Given the description of an element on the screen output the (x, y) to click on. 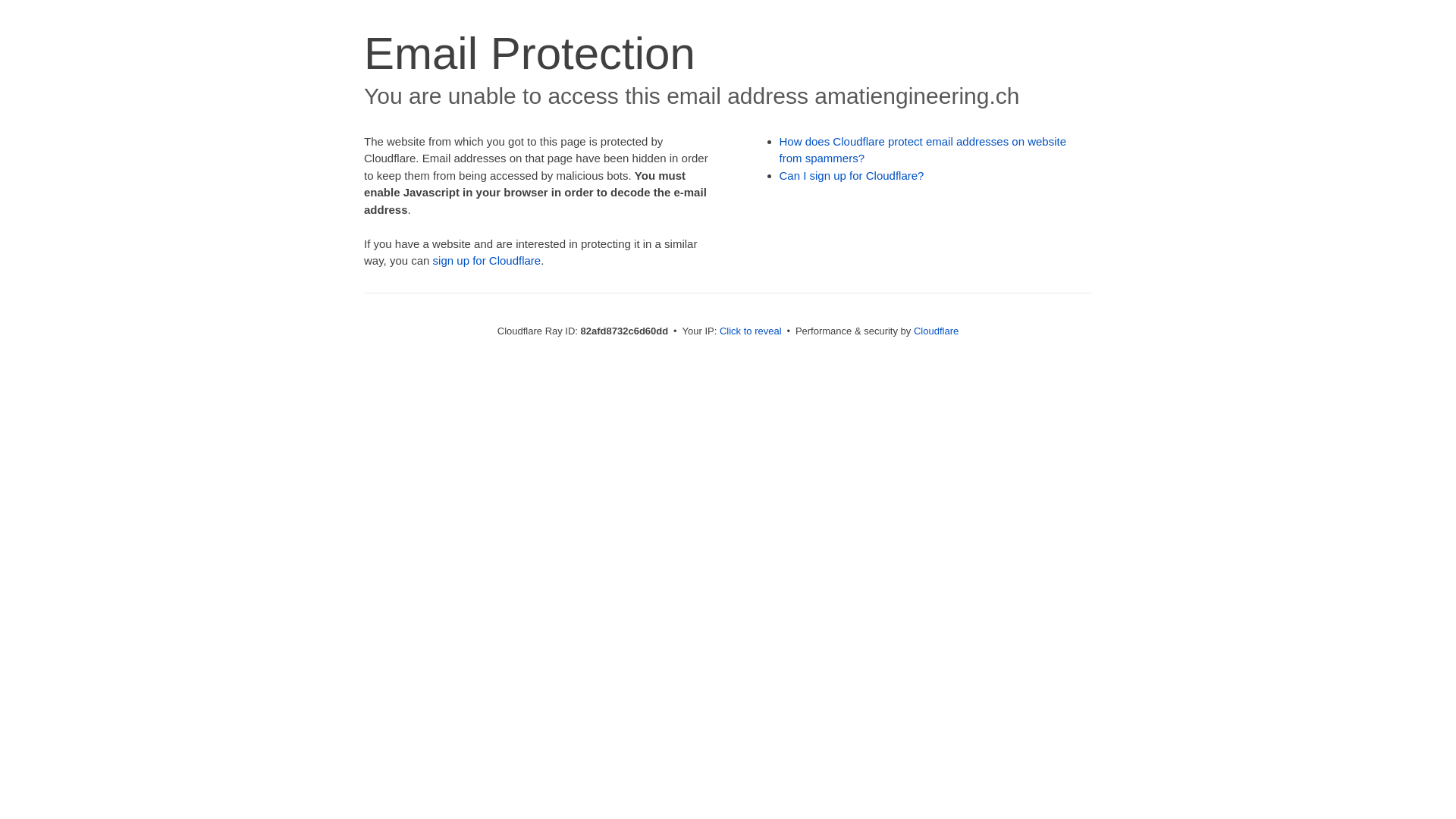
sign up for Cloudflare Element type: text (487, 260)
Can I sign up for Cloudflare? Element type: text (851, 175)
Cloudflare Element type: text (935, 330)
Click to reveal Element type: text (750, 330)
